Given the description of an element on the screen output the (x, y) to click on. 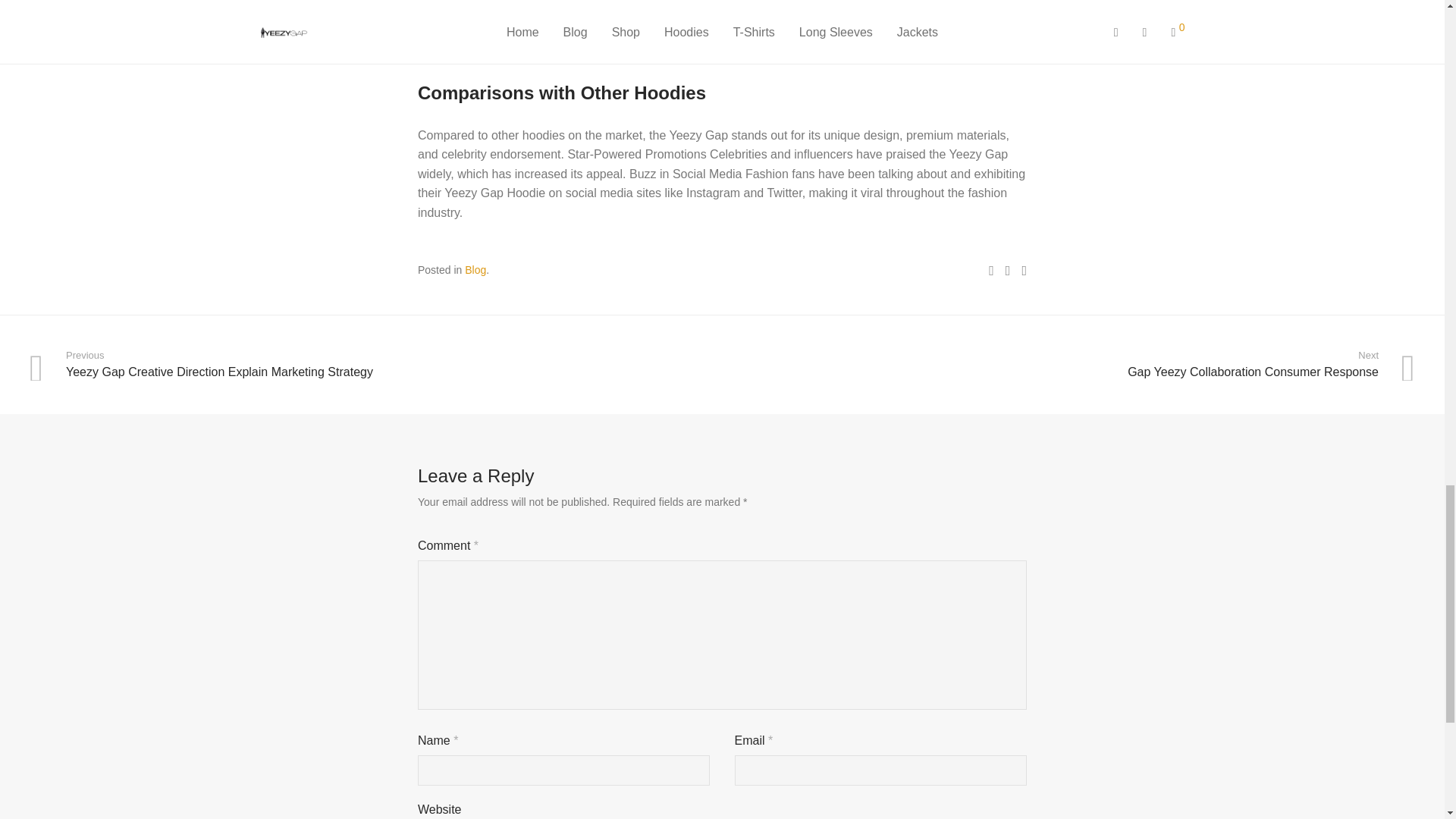
Blog (1070, 364)
Gap Hoodie (475, 269)
